Given the description of an element on the screen output the (x, y) to click on. 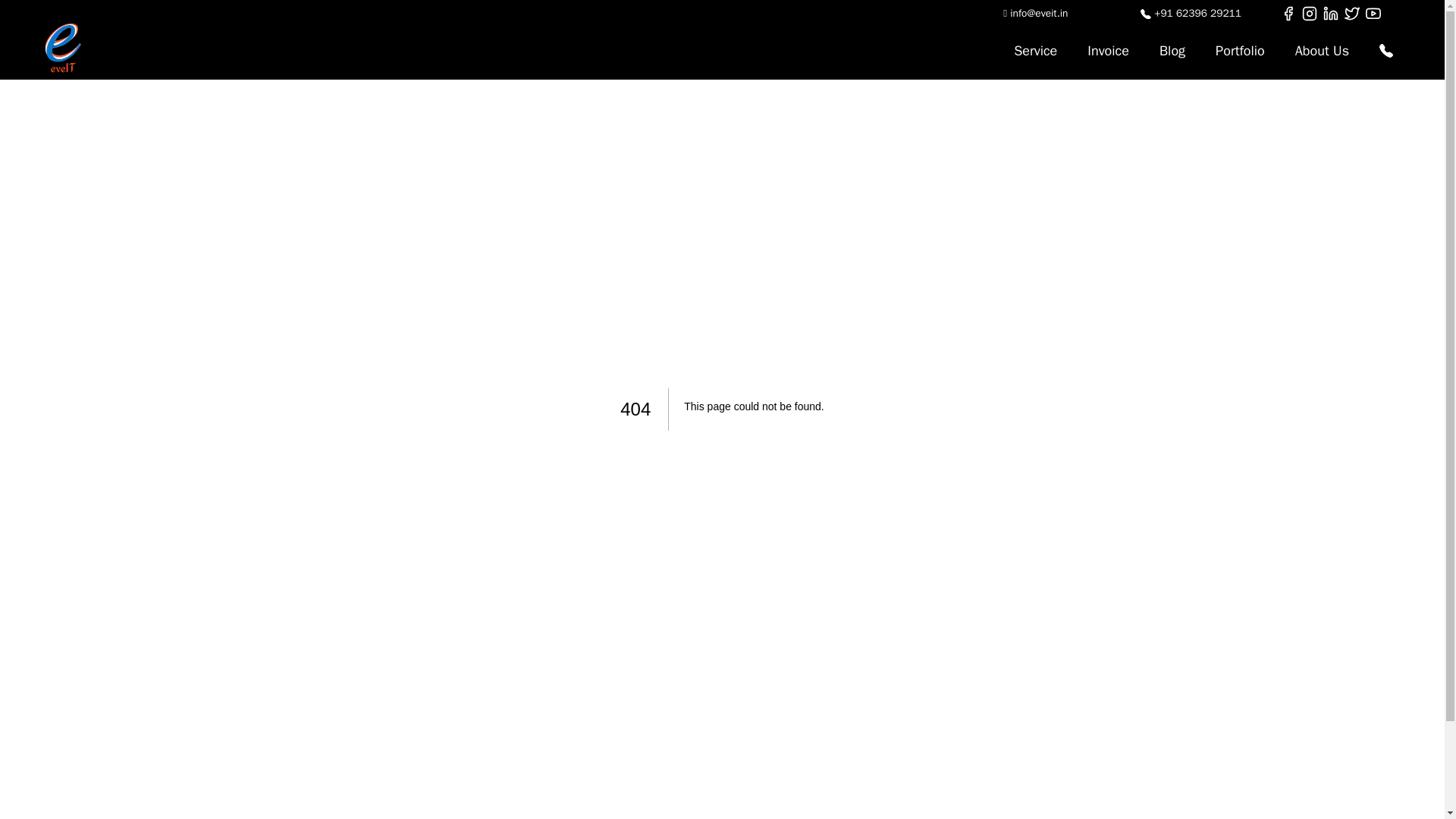
Service (1034, 50)
About Us (1321, 50)
Invoice (1107, 50)
Portfolio (1239, 50)
Blog (1171, 50)
